Given the description of an element on the screen output the (x, y) to click on. 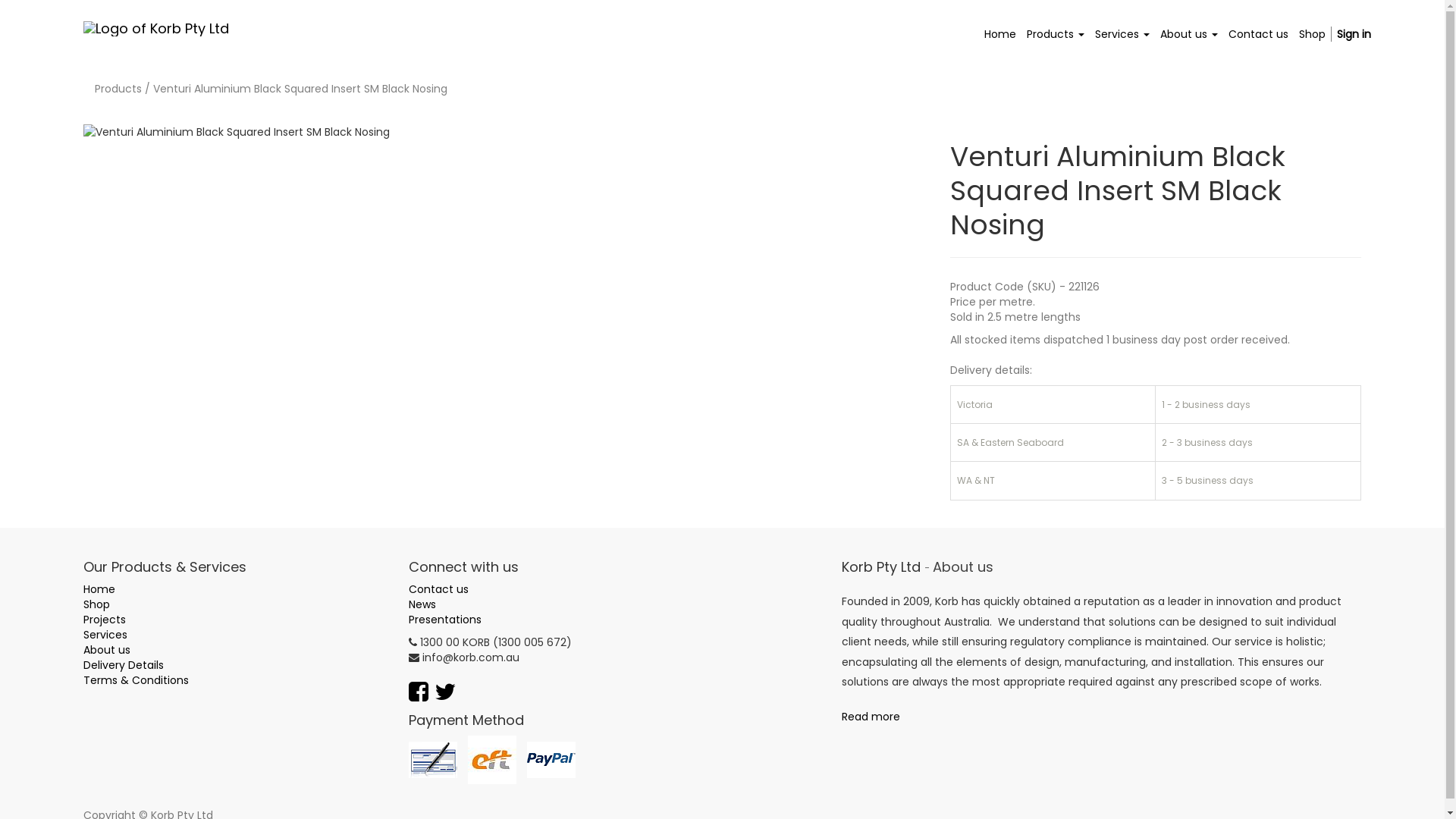
Products Element type: text (117, 88)
About us Element type: text (1188, 34)
Home Element type: text (1000, 34)
News Element type: text (422, 603)
Products Element type: text (1055, 34)
Projects Element type: text (104, 619)
Presentations Element type: text (444, 619)
Read more Element type: text (870, 716)
Korb Pty Ltd Element type: hover (156, 28)
Services Element type: text (105, 634)
Shop Element type: text (1311, 34)
Contact us Element type: text (438, 588)
Services Element type: text (1121, 34)
Delivery Details Element type: text (123, 664)
Terms & Conditions Element type: text (135, 679)
About us Element type: text (962, 568)
Home Element type: text (99, 588)
Sign in Element type: text (1353, 34)
Shop Element type: text (96, 603)
About us Element type: text (106, 649)
Contact us Element type: text (1258, 34)
